Given the description of an element on the screen output the (x, y) to click on. 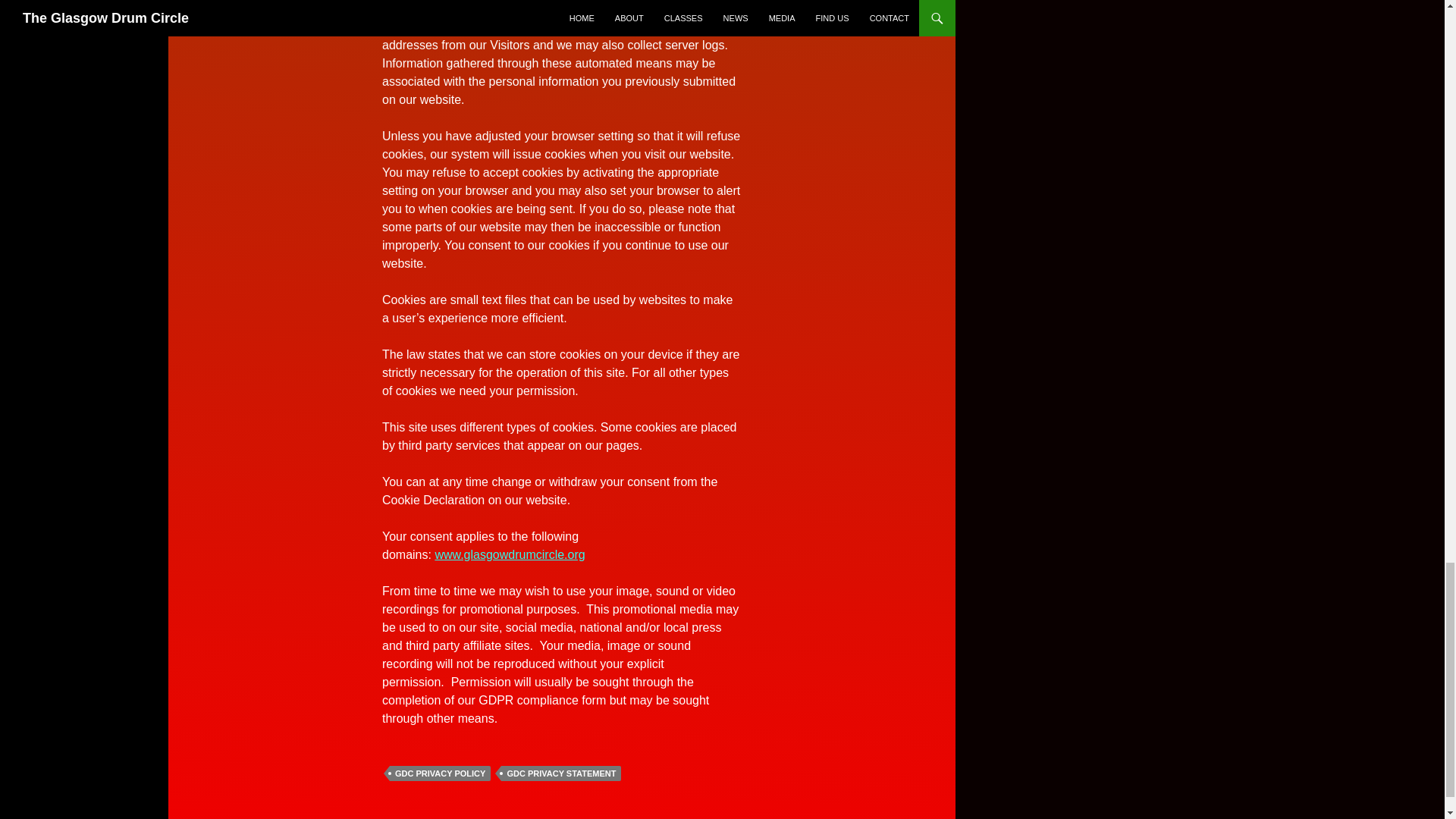
www.glasgowdrumcircle.org (509, 554)
GDC PRIVACY POLICY (440, 773)
GDC PRIVACY STATEMENT (560, 773)
